Given the description of an element on the screen output the (x, y) to click on. 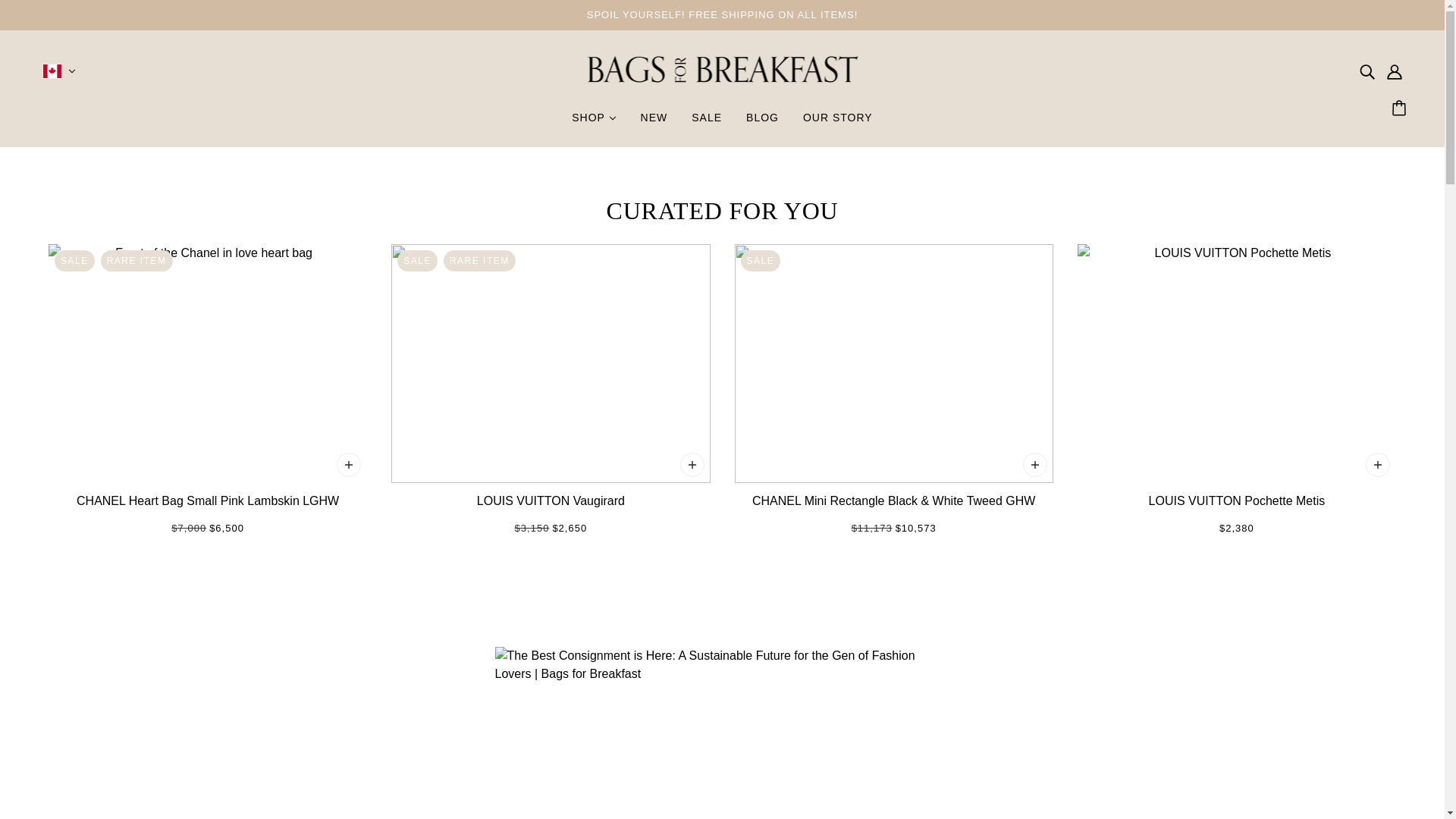
SALE (706, 123)
BLOG (761, 123)
Bags for Breakfast (721, 103)
SHOP  (593, 123)
NEW (653, 123)
OUR STORY (837, 123)
